Given the description of an element on the screen output the (x, y) to click on. 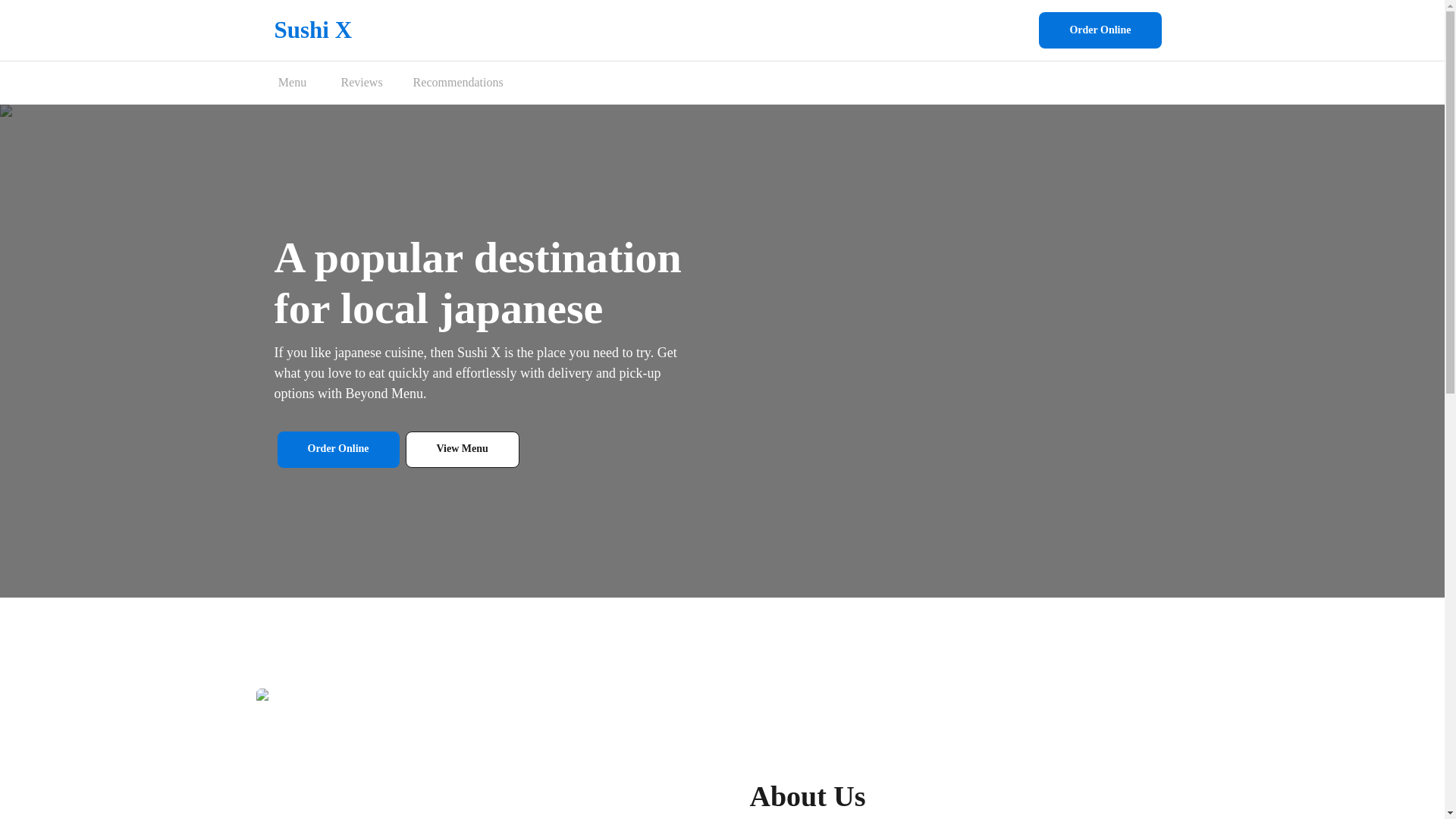
Sushi X (313, 29)
Order Online (338, 448)
View Menu (462, 448)
Order Online (1099, 30)
Recommendations (458, 82)
Recommendations (458, 83)
Reviews (361, 83)
